Given the description of an element on the screen output the (x, y) to click on. 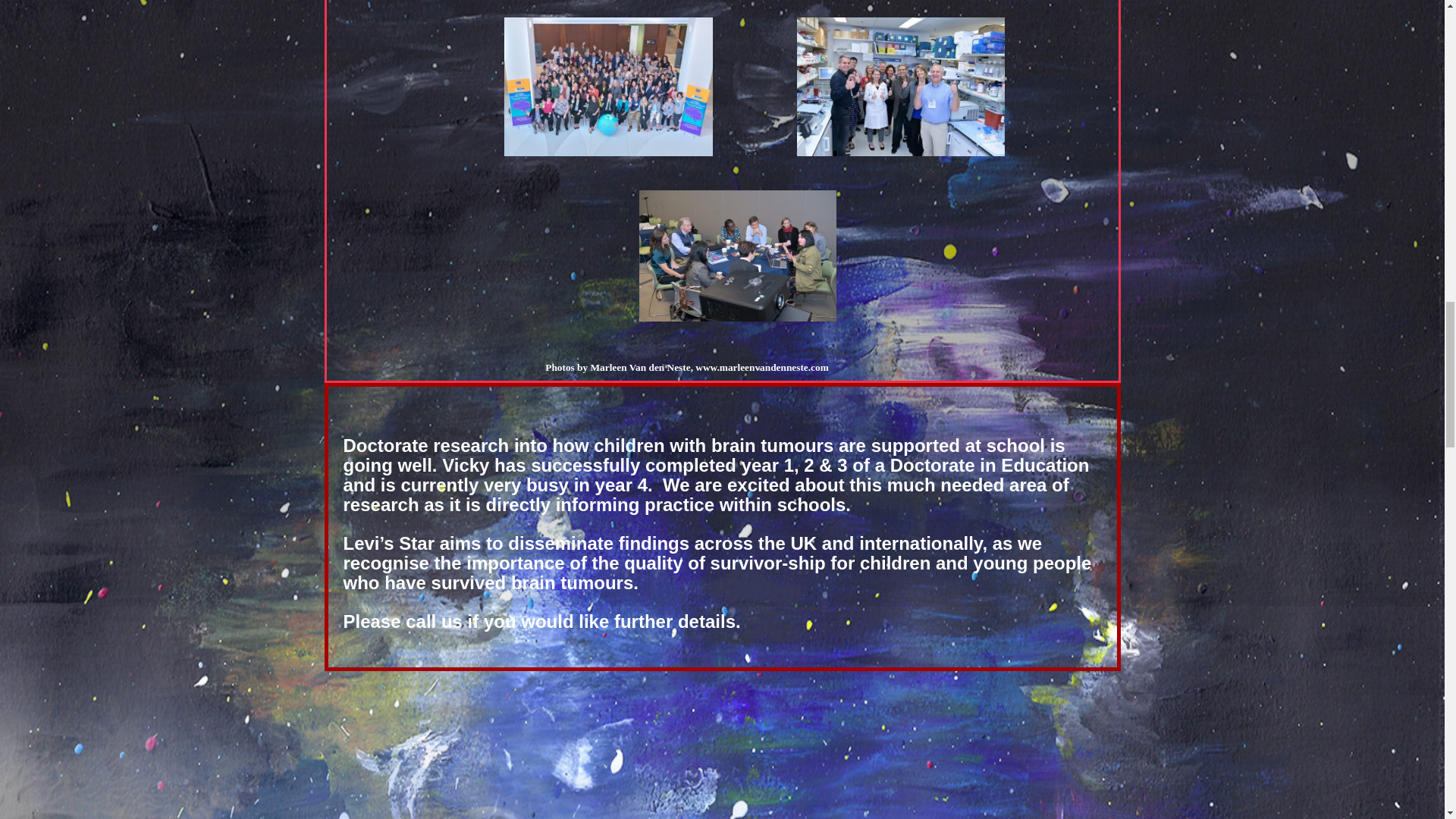
www.marleenvandenneste.com (761, 367)
